Given the description of an element on the screen output the (x, y) to click on. 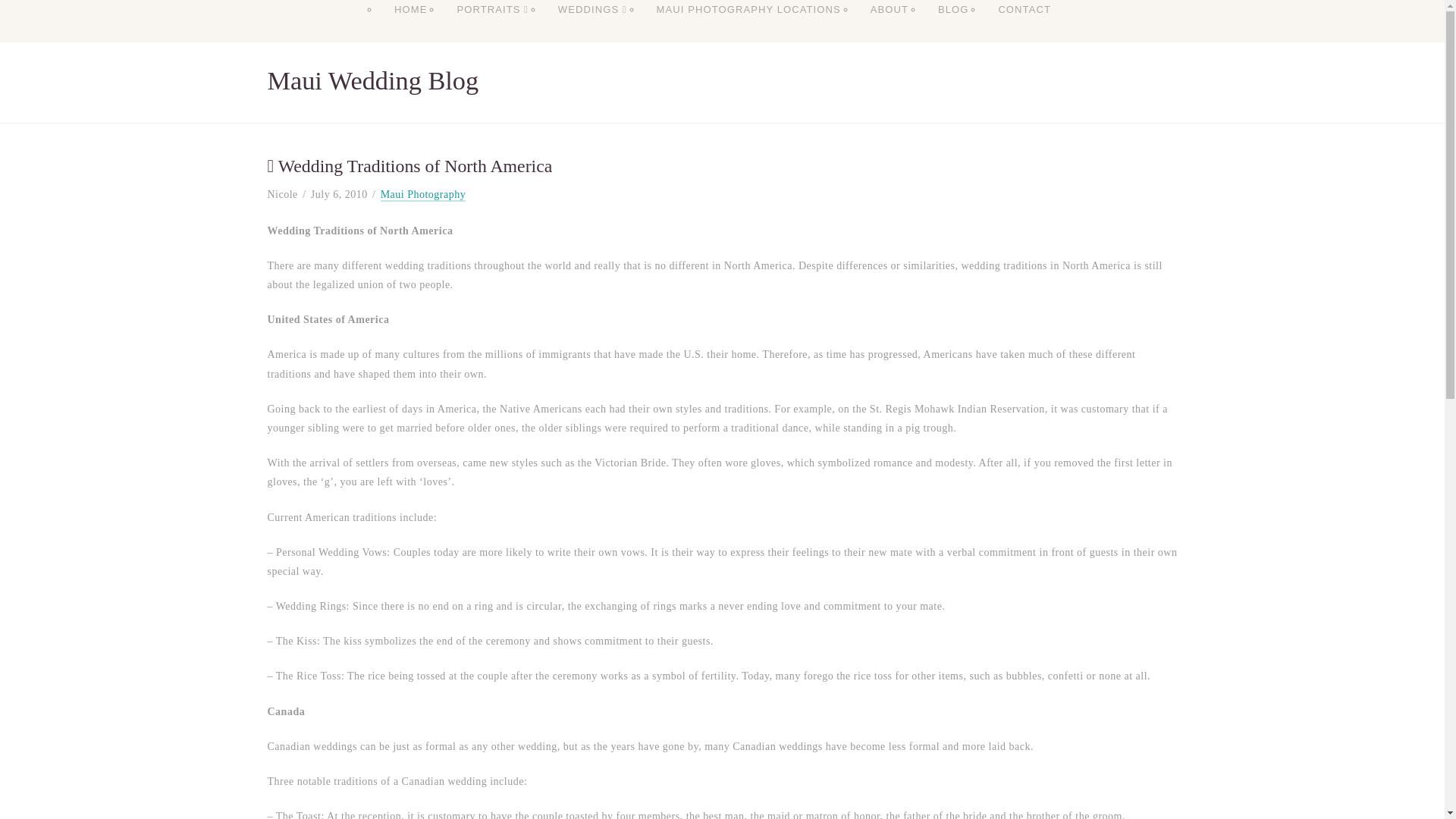
HOME (409, 23)
Maui Wedding Photography Home (409, 23)
WEDDINGS (592, 23)
CONTACT (1023, 23)
MAUI PHOTOGRAPHY LOCATIONS (749, 23)
PORTRAITS (491, 23)
BLOG (952, 23)
ABOUT (889, 23)
Maui Photography (422, 195)
